Given the description of an element on the screen output the (x, y) to click on. 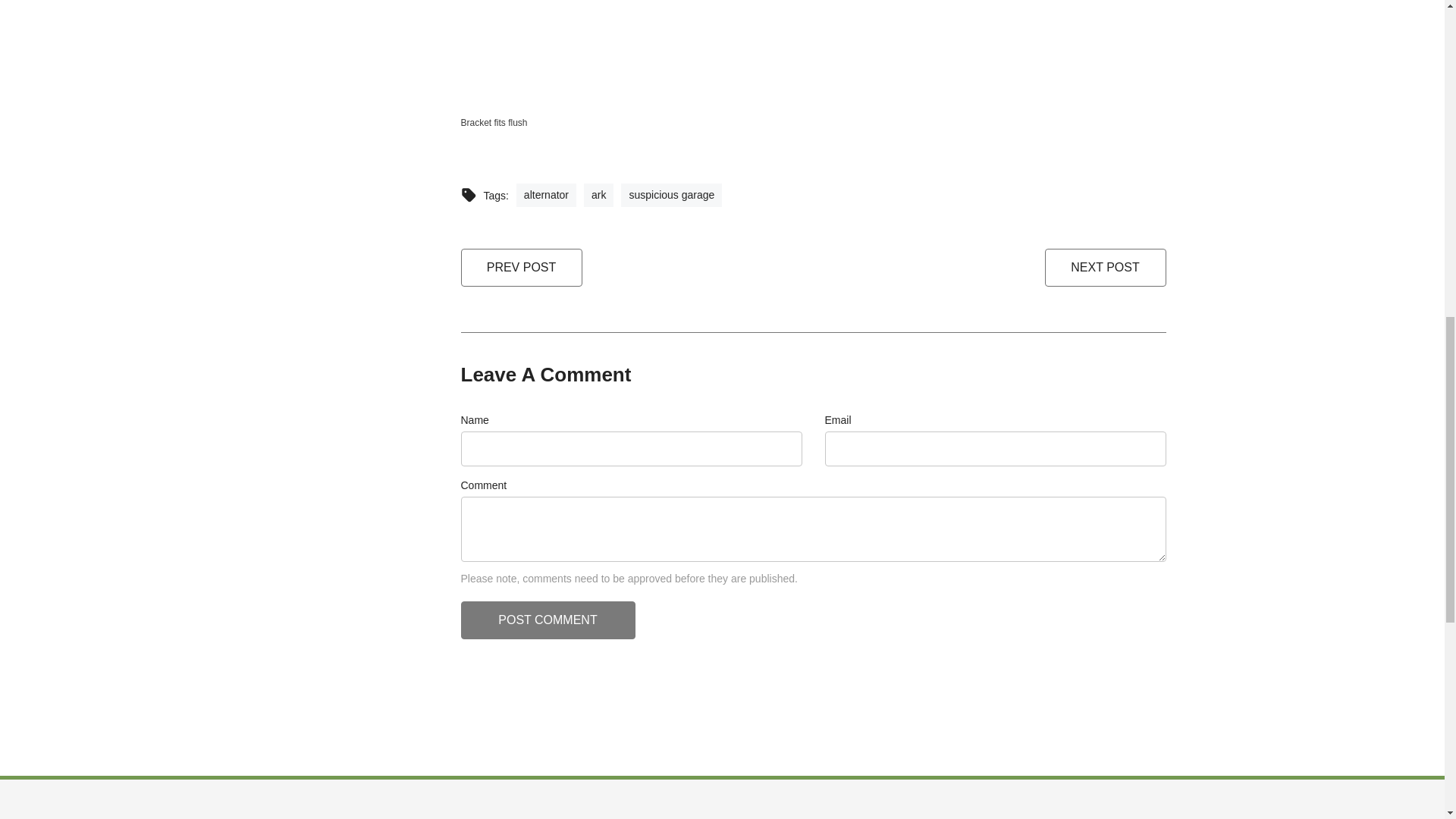
Post comment (547, 620)
